Given the description of an element on the screen output the (x, y) to click on. 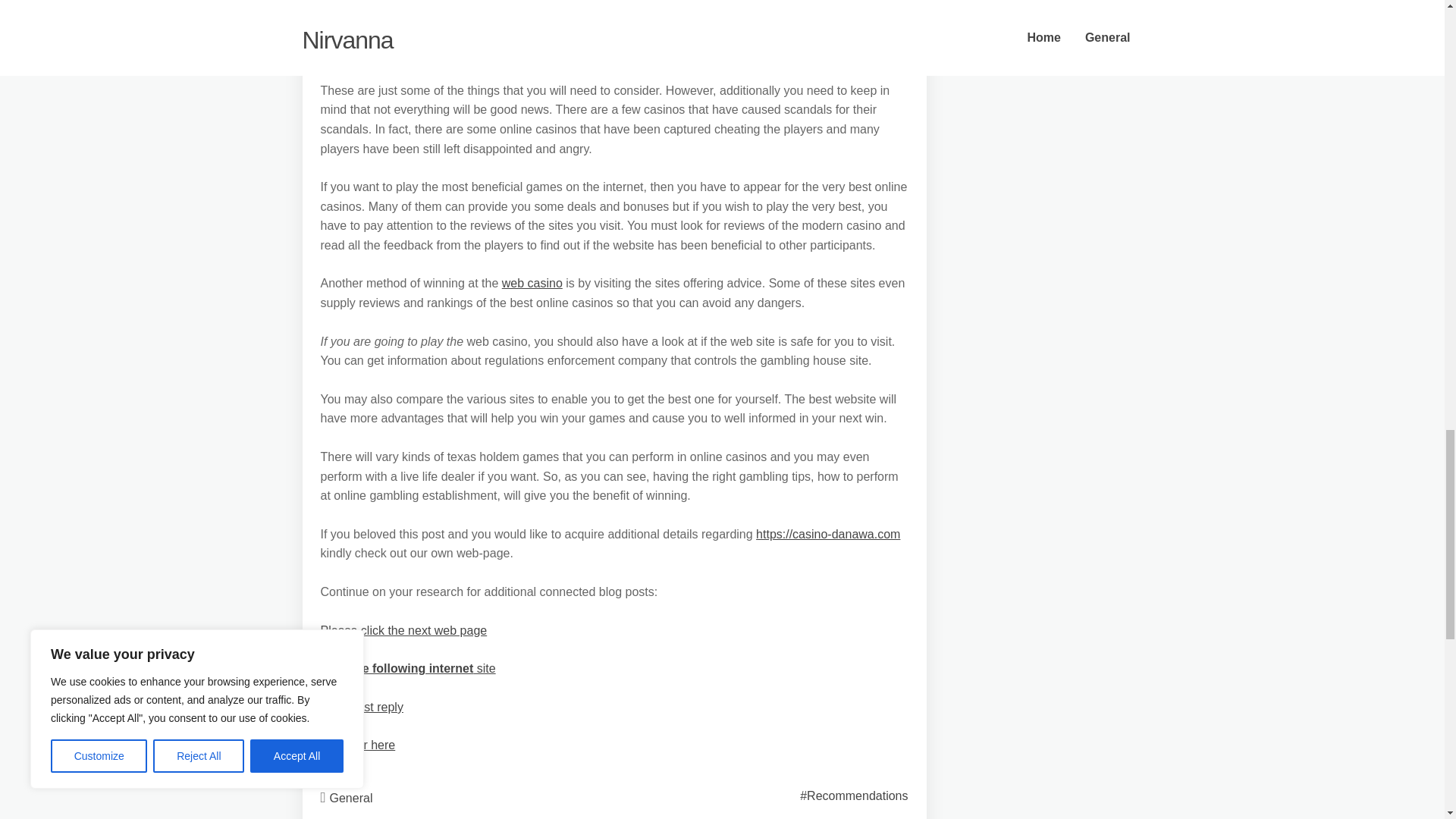
Please click the next web page (403, 630)
web casino (532, 282)
click the following internet site (407, 667)
super fast reply (361, 707)
General (351, 797)
pop over here (357, 744)
